Given the description of an element on the screen output the (x, y) to click on. 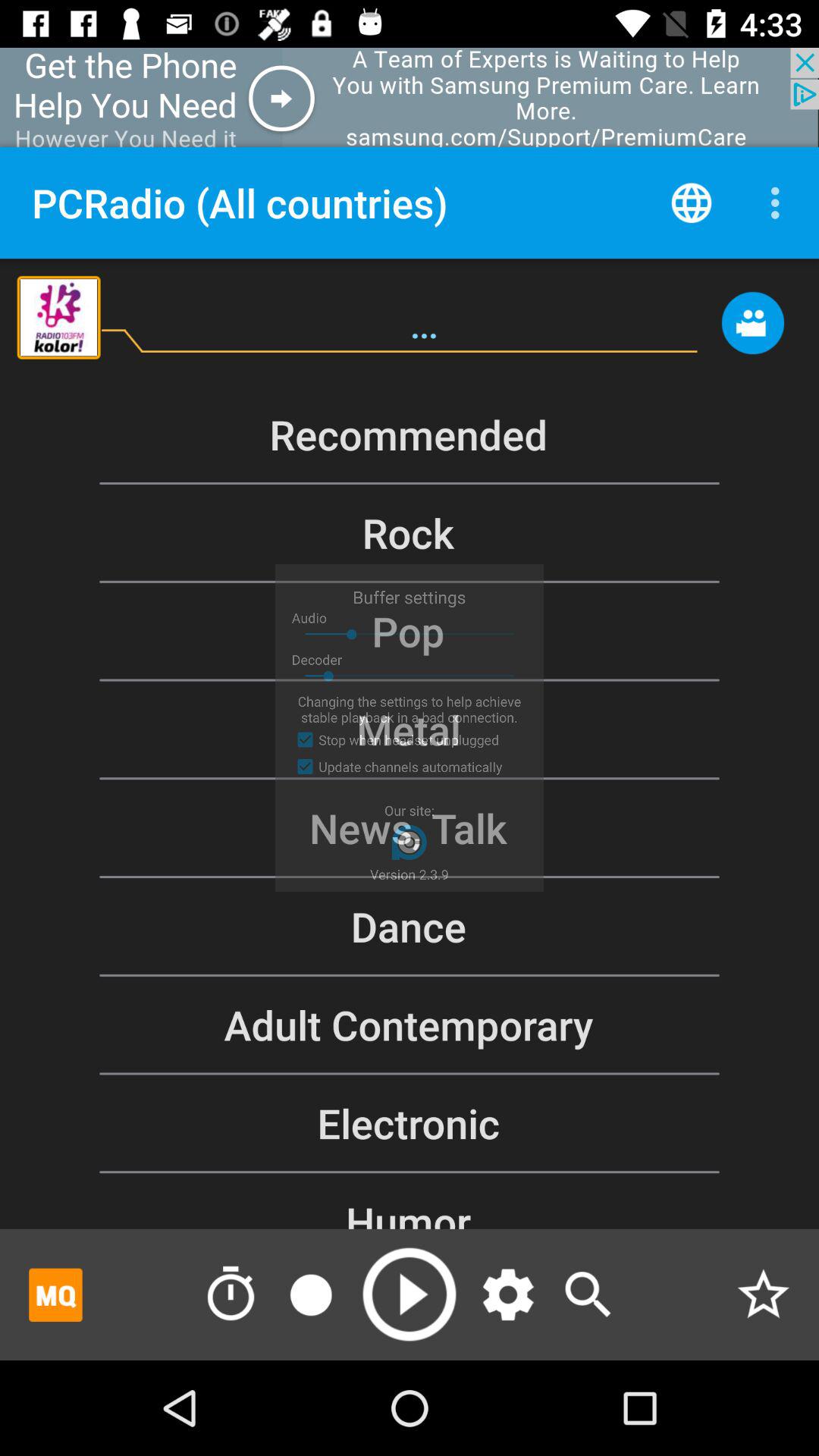
switch to video (752, 330)
